Given the description of an element on the screen output the (x, y) to click on. 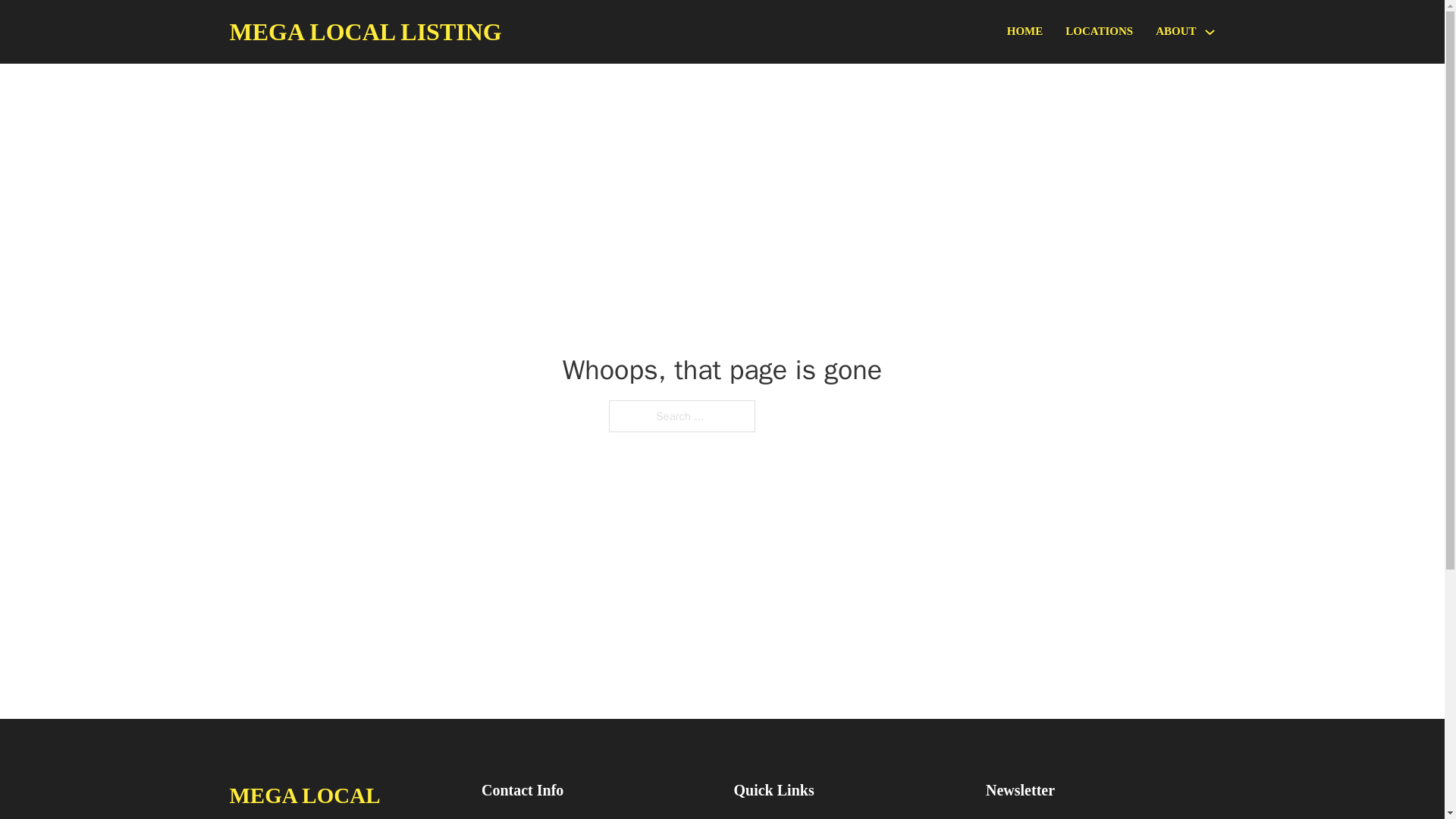
HOME (1025, 31)
MEGA LOCAL LISTING (364, 31)
LOCATIONS (1098, 31)
MEGA LOCAL LISTING (343, 798)
